Given the description of an element on the screen output the (x, y) to click on. 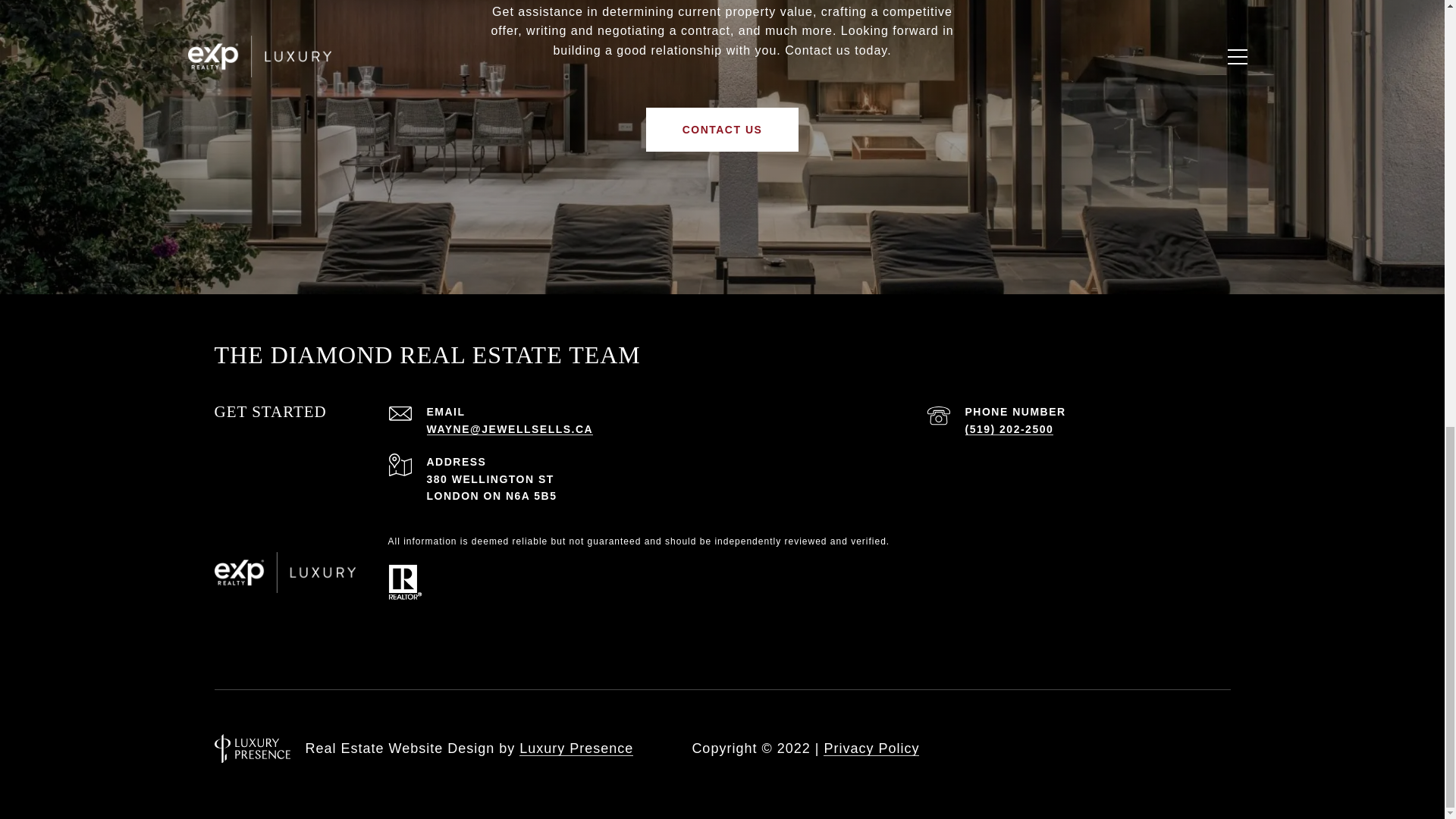
CONTACT US (722, 129)
Privacy Policy (871, 748)
Luxury Presence (576, 748)
